Given the description of an element on the screen output the (x, y) to click on. 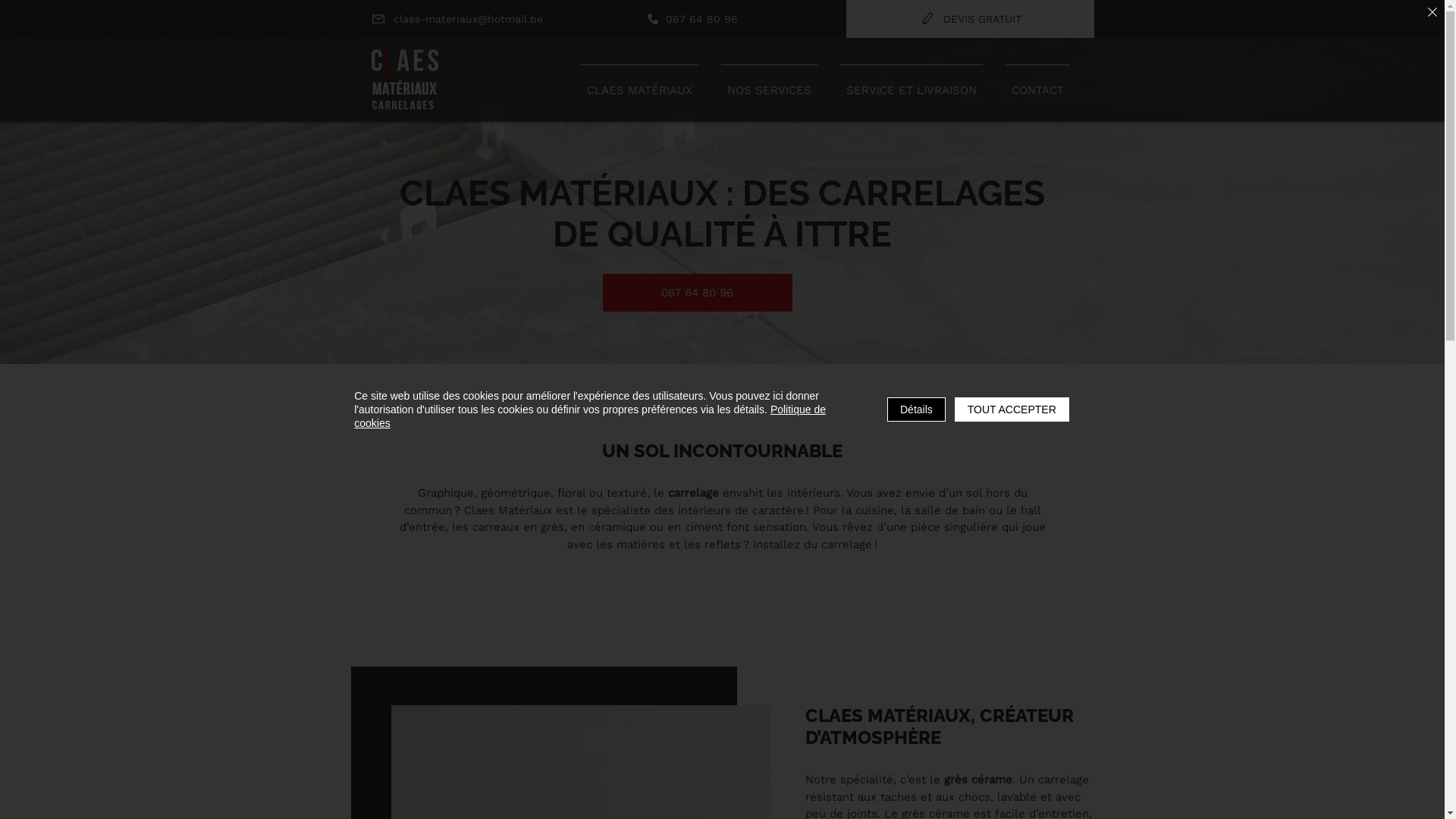
067 64 80 96 Element type: text (691, 18)
claes-materiaux@hotmail.be Element type: text (456, 18)
CONTACT Element type: text (1036, 83)
067 64 80 96 Element type: text (696, 292)
Politique de cookies Element type: text (589, 416)
TOUT ACCEPTER Element type: text (1011, 409)
DEVIS GRATUIT Element type: text (969, 18)
SERVICE ET LIVRAISON Element type: text (910, 83)
